Given the description of an element on the screen output the (x, y) to click on. 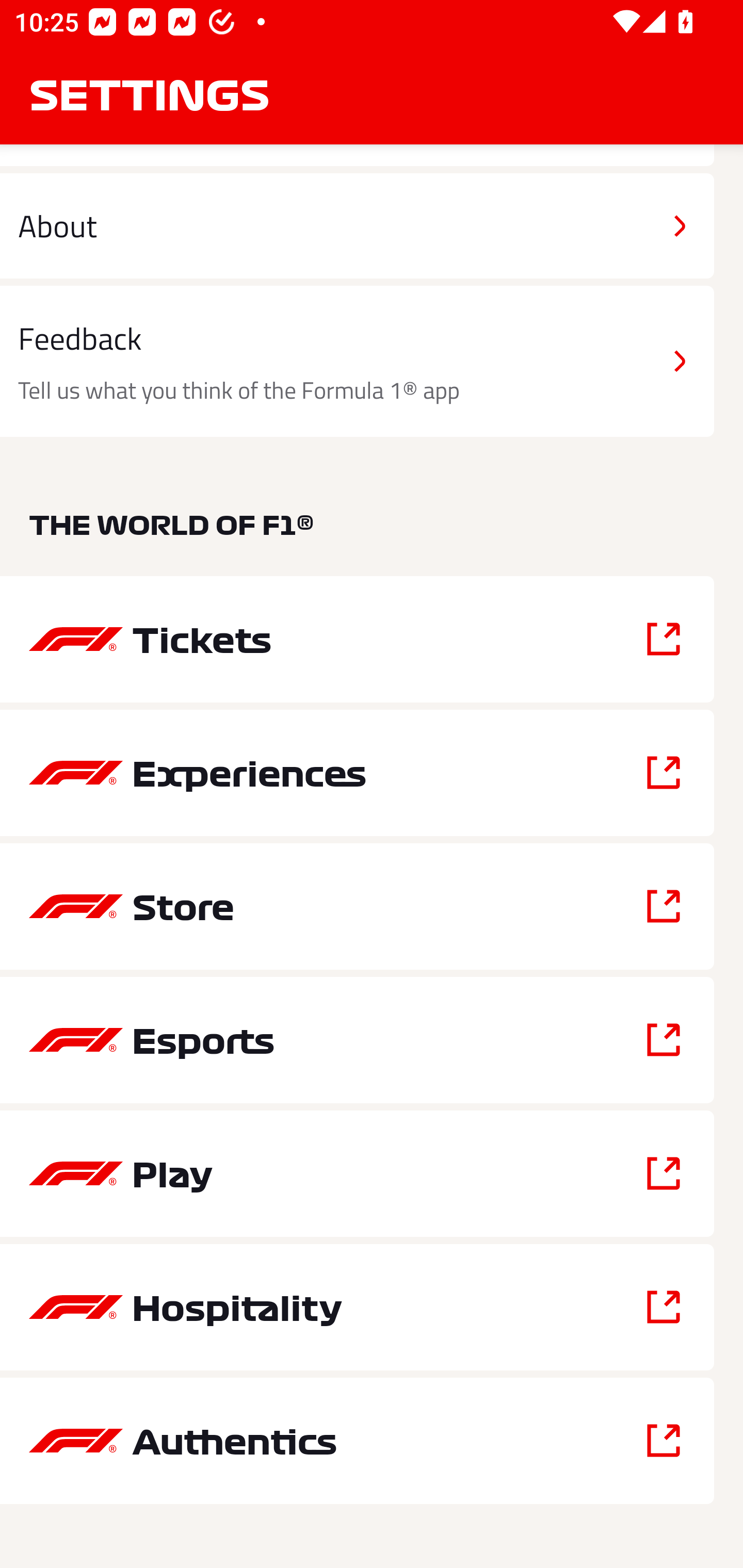
About (357, 226)
Tickets (357, 638)
Experiences (357, 772)
Store (357, 906)
Esports (357, 1039)
Play (357, 1173)
Hospitality (357, 1306)
Authentics (357, 1440)
